Given the description of an element on the screen output the (x, y) to click on. 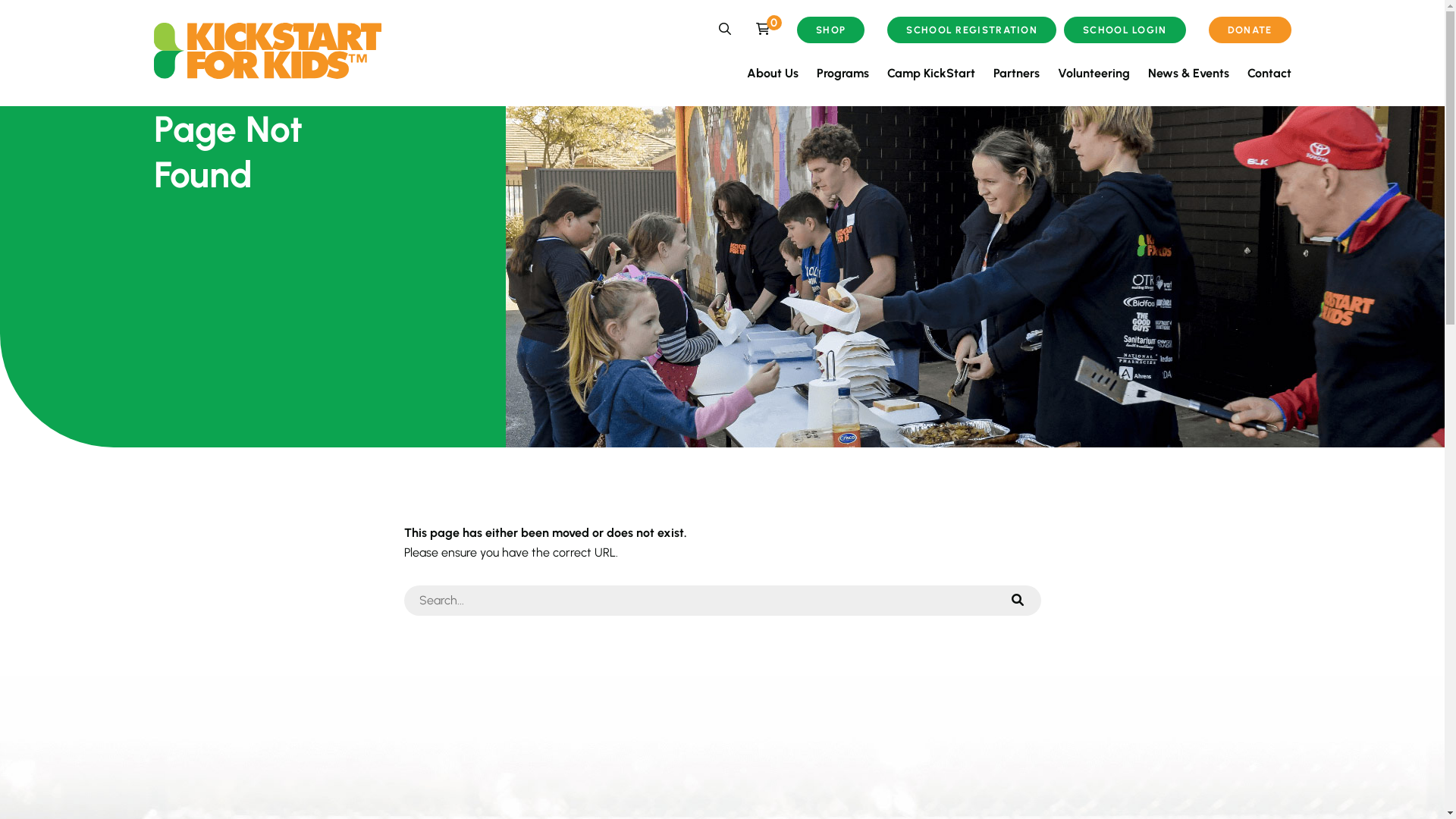
DONATE Element type: text (1249, 29)
SCHOOL LOGIN Element type: text (1124, 29)
Volunteering Element type: text (1093, 72)
SHOP Element type: text (830, 29)
SCHOOL REGISTRATION Element type: text (971, 29)
Programs Element type: text (841, 72)
About Us Element type: text (771, 72)
Camp KickStart Element type: text (931, 72)
0 Element type: text (762, 28)
Contact Element type: text (1268, 72)
News & Events Element type: text (1188, 72)
Partners Element type: text (1016, 72)
